Given the description of an element on the screen output the (x, y) to click on. 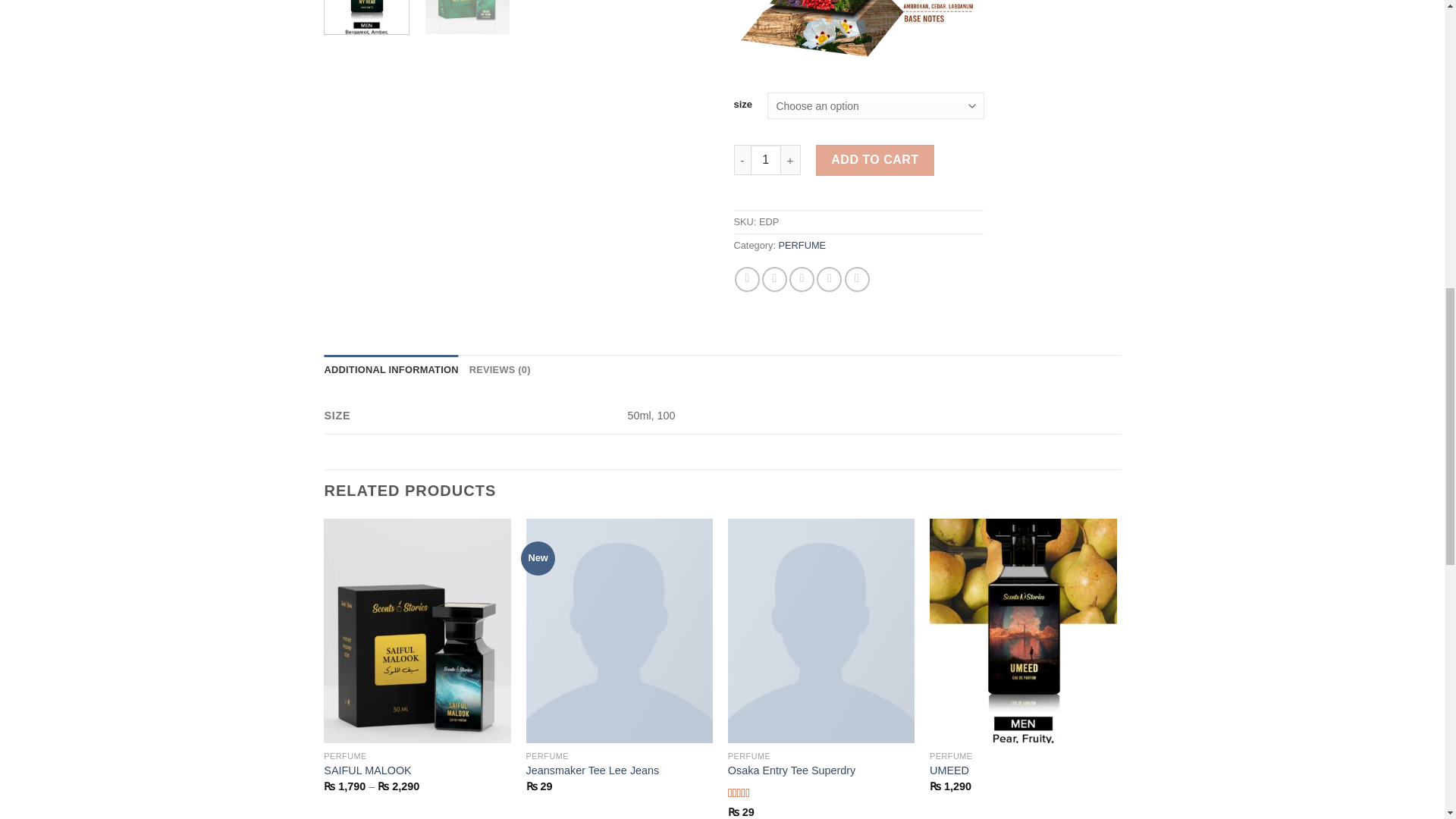
Email to a Friend (801, 278)
Share on LinkedIn (856, 278)
Share on Twitter (774, 278)
1 (765, 159)
Share on Facebook (747, 278)
ADD TO CART (874, 159)
PERFUME (802, 244)
Pin on Pinterest (828, 278)
